Given the description of an element on the screen output the (x, y) to click on. 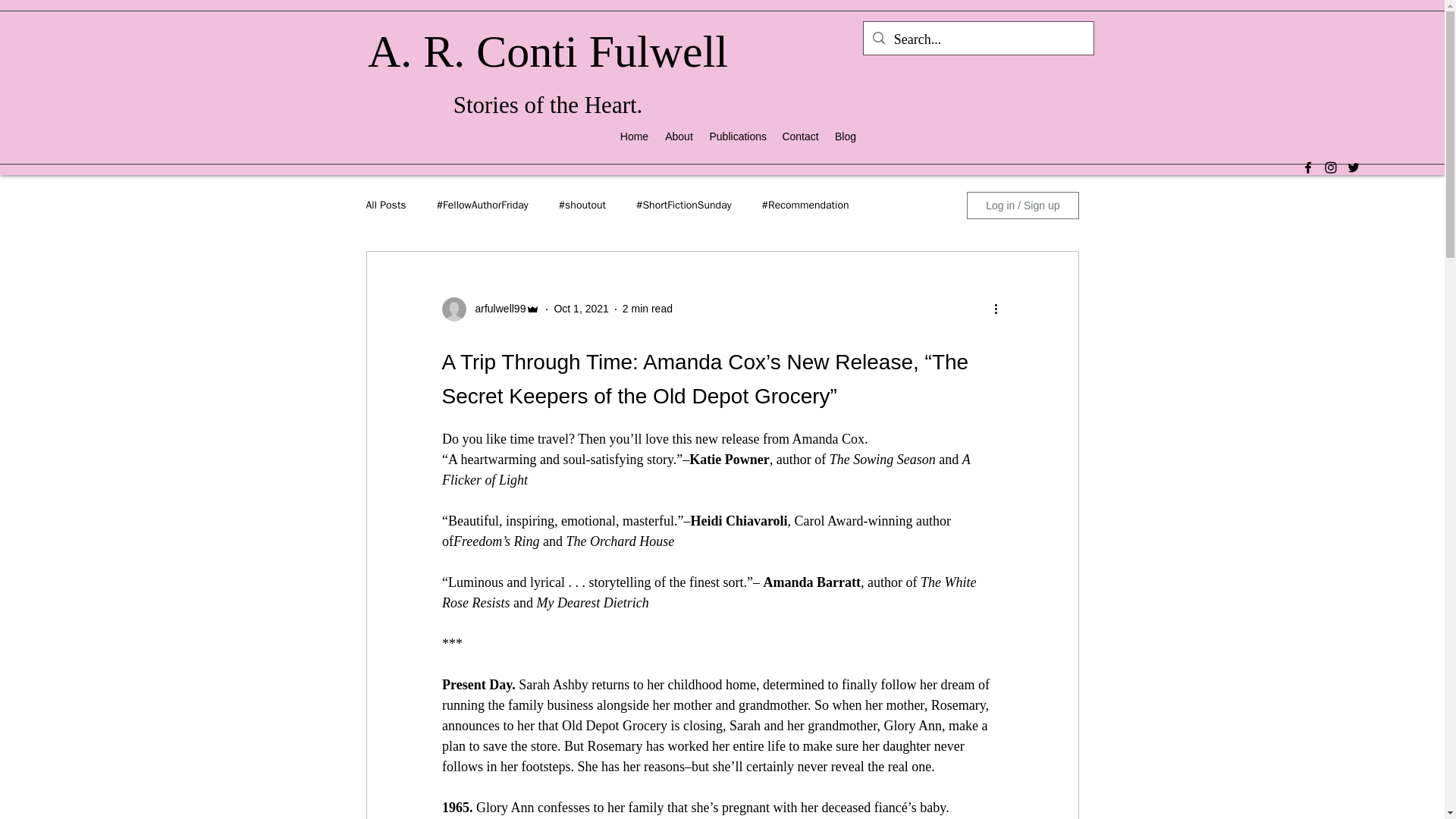
About (678, 136)
Contact (800, 136)
arfulwell99 (495, 308)
Oct 1, 2021 (580, 308)
Publications (737, 136)
Home (634, 136)
All Posts (385, 205)
2 min read (647, 308)
Blog (845, 136)
